Given the description of an element on the screen output the (x, y) to click on. 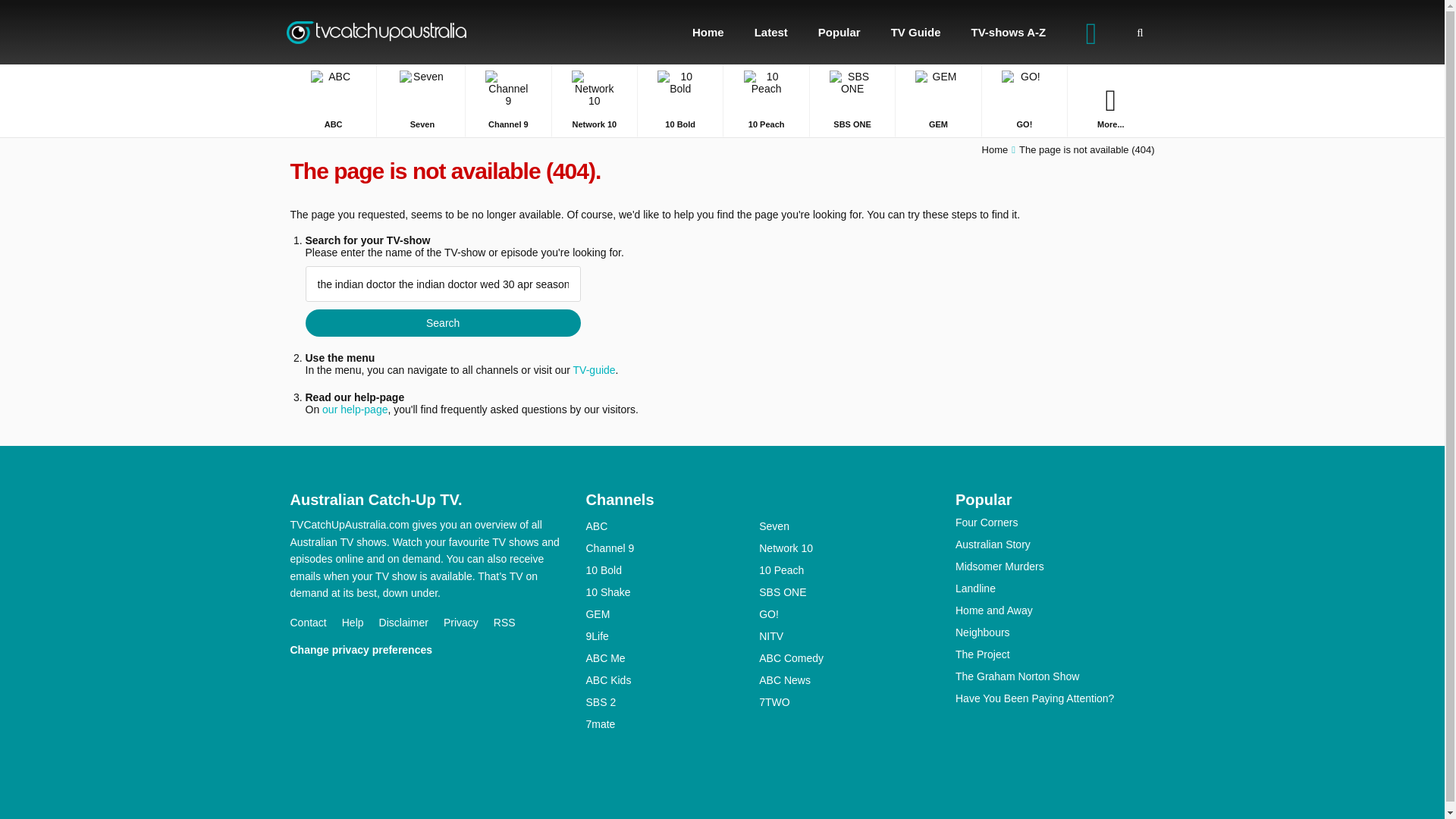
ABC (332, 100)
Seven (422, 100)
Privacy (468, 622)
Contact (314, 622)
Change privacy preferences (367, 649)
ABC (332, 100)
10 Peach (765, 100)
Channel 9 (507, 100)
Latest (771, 32)
ABC (671, 526)
10 Peach (765, 100)
More... (1110, 100)
Channel 9 (507, 100)
SBS ONE (852, 100)
